Given the description of an element on the screen output the (x, y) to click on. 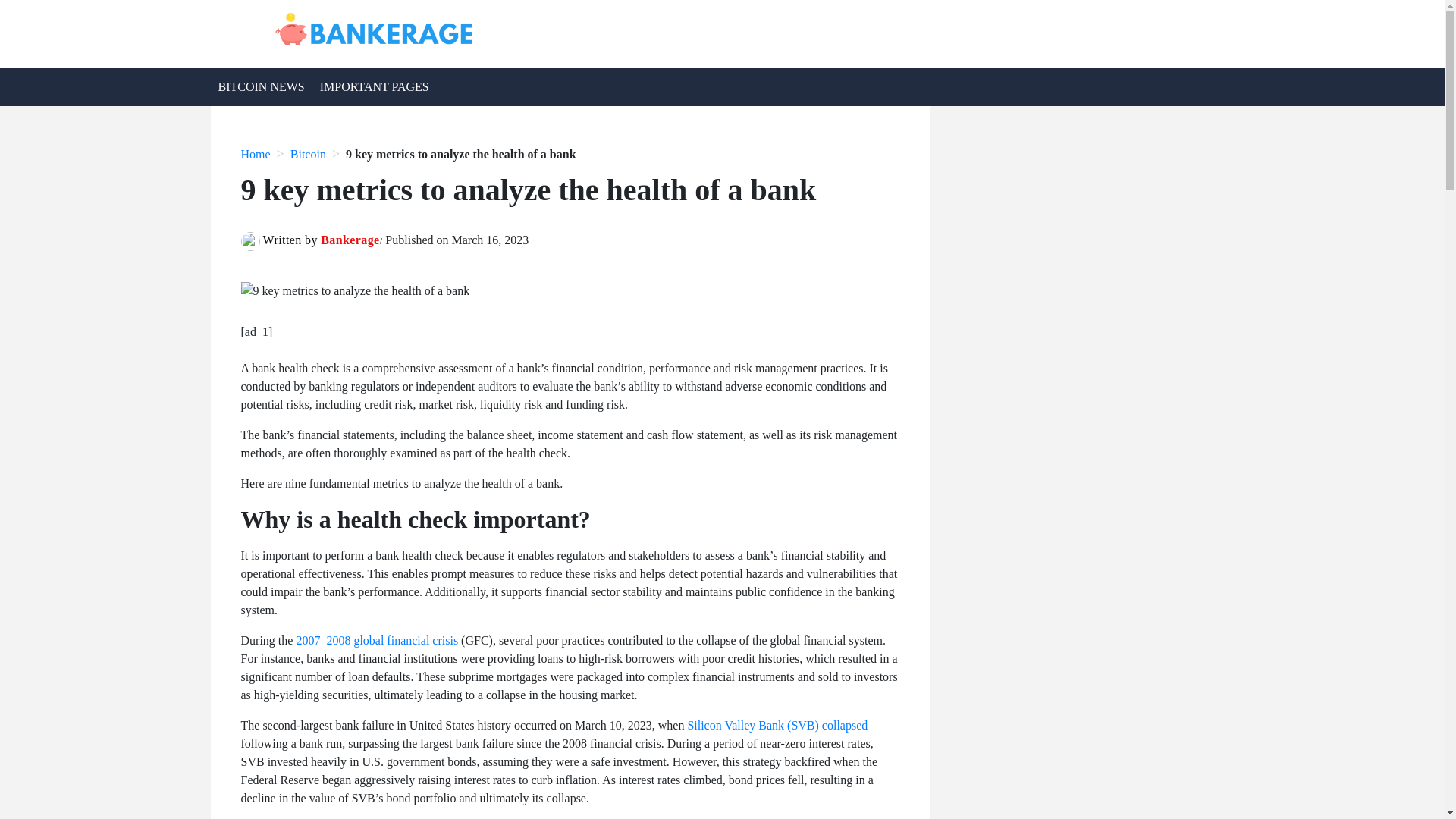
IMPORTANT PAGES (374, 86)
Bankerage (349, 239)
Bitcoin (307, 154)
Home (255, 154)
Posts by Bankerage (349, 239)
9 key metrics to analyze the health of a bank (461, 154)
BITCOIN NEWS (262, 86)
Home (255, 154)
